Given the description of an element on the screen output the (x, y) to click on. 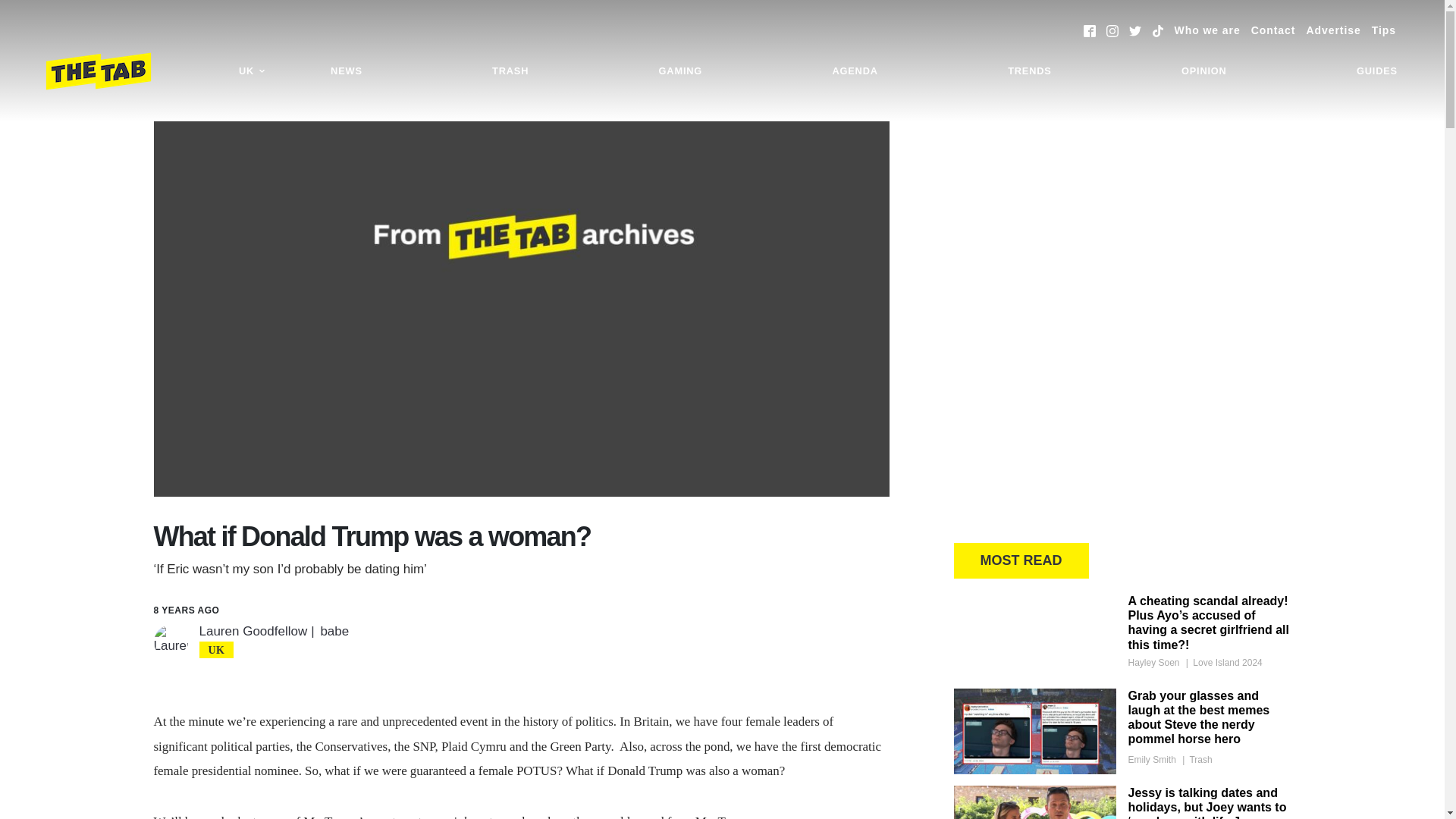
AGENDA (854, 71)
Who we are (1207, 29)
GAMING (680, 71)
GUIDES (1377, 71)
UK (252, 71)
Advertise (1332, 29)
NEWS (346, 71)
OPINION (1204, 71)
Contact (1272, 29)
Tips (1383, 29)
TRASH (510, 71)
TRENDS (1028, 71)
